Given the description of an element on the screen output the (x, y) to click on. 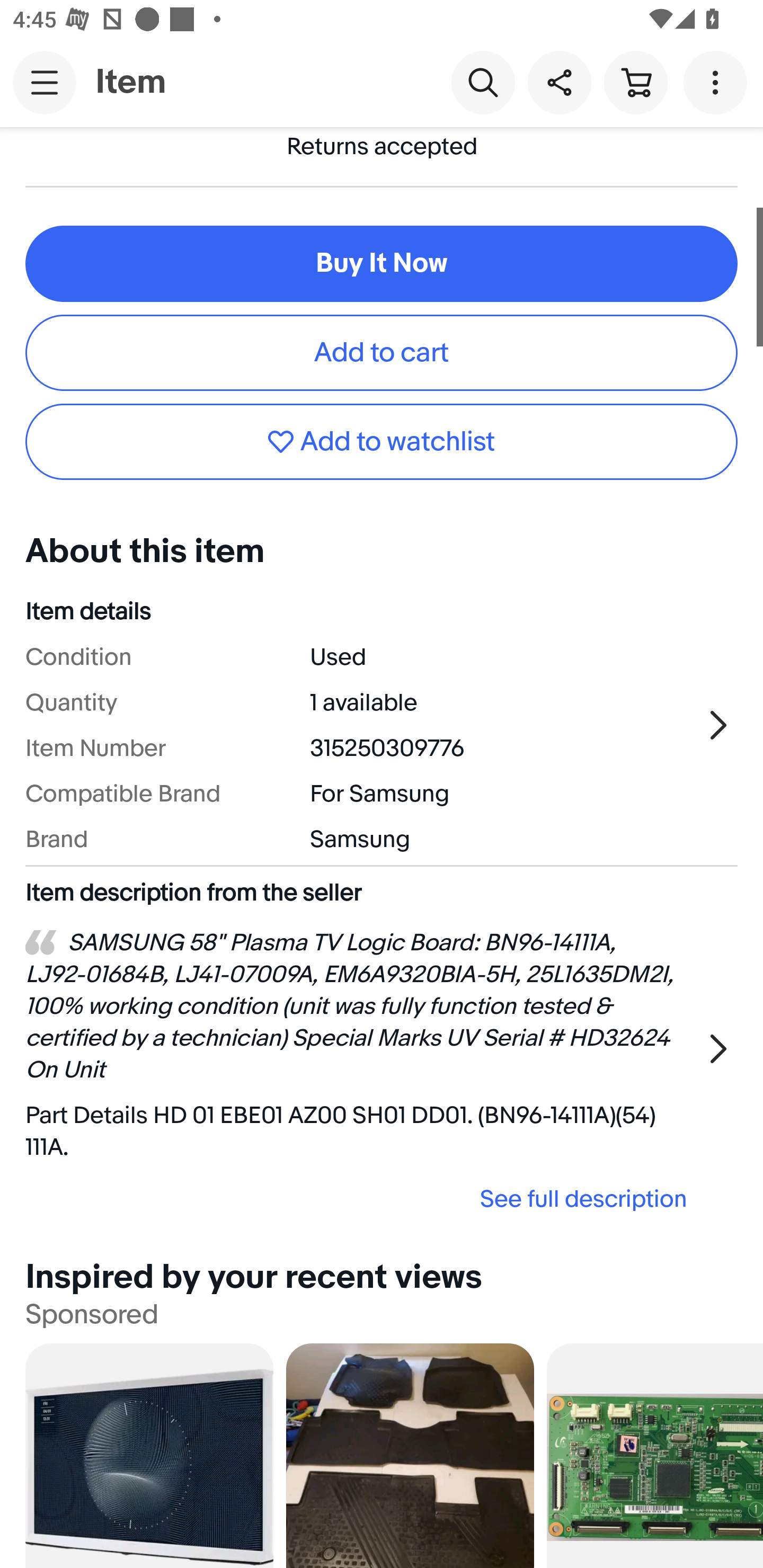
Main navigation, open (44, 82)
Search (482, 81)
Share this item (559, 81)
Cart button shopping cart (635, 81)
More options (718, 81)
Buy It Now (381, 263)
Add to cart (381, 352)
Add to watchlist (381, 440)
See full description (362, 1198)
